Given the description of an element on the screen output the (x, y) to click on. 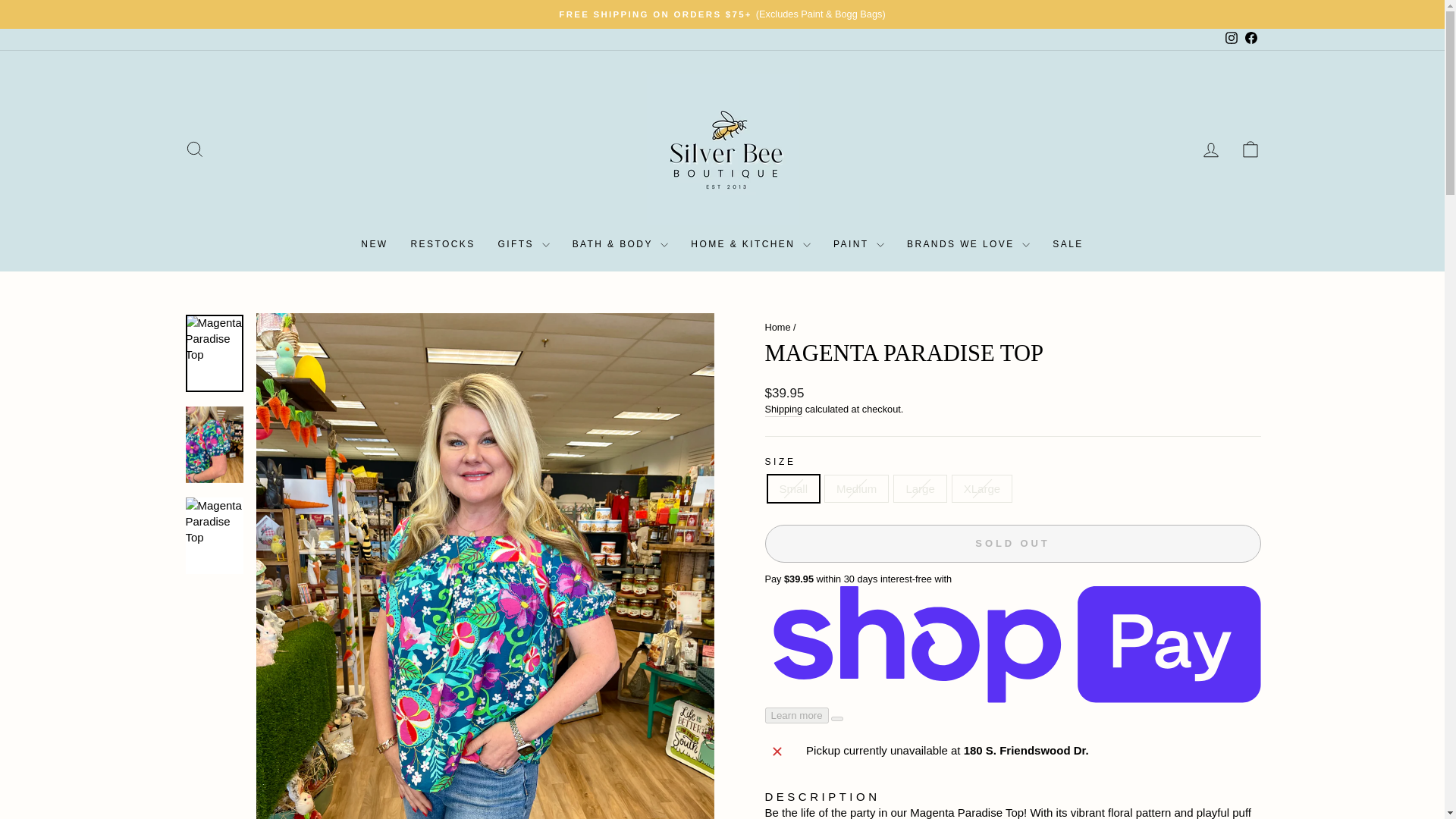
Silver Bee Boutique on Facebook (1250, 38)
ICON-BAG-MINIMAL (1249, 148)
Silver Bee Boutique on Instagram (1230, 38)
ACCOUNT (1210, 149)
Back to the frontpage (777, 326)
instagram (1231, 37)
